Given the description of an element on the screen output the (x, y) to click on. 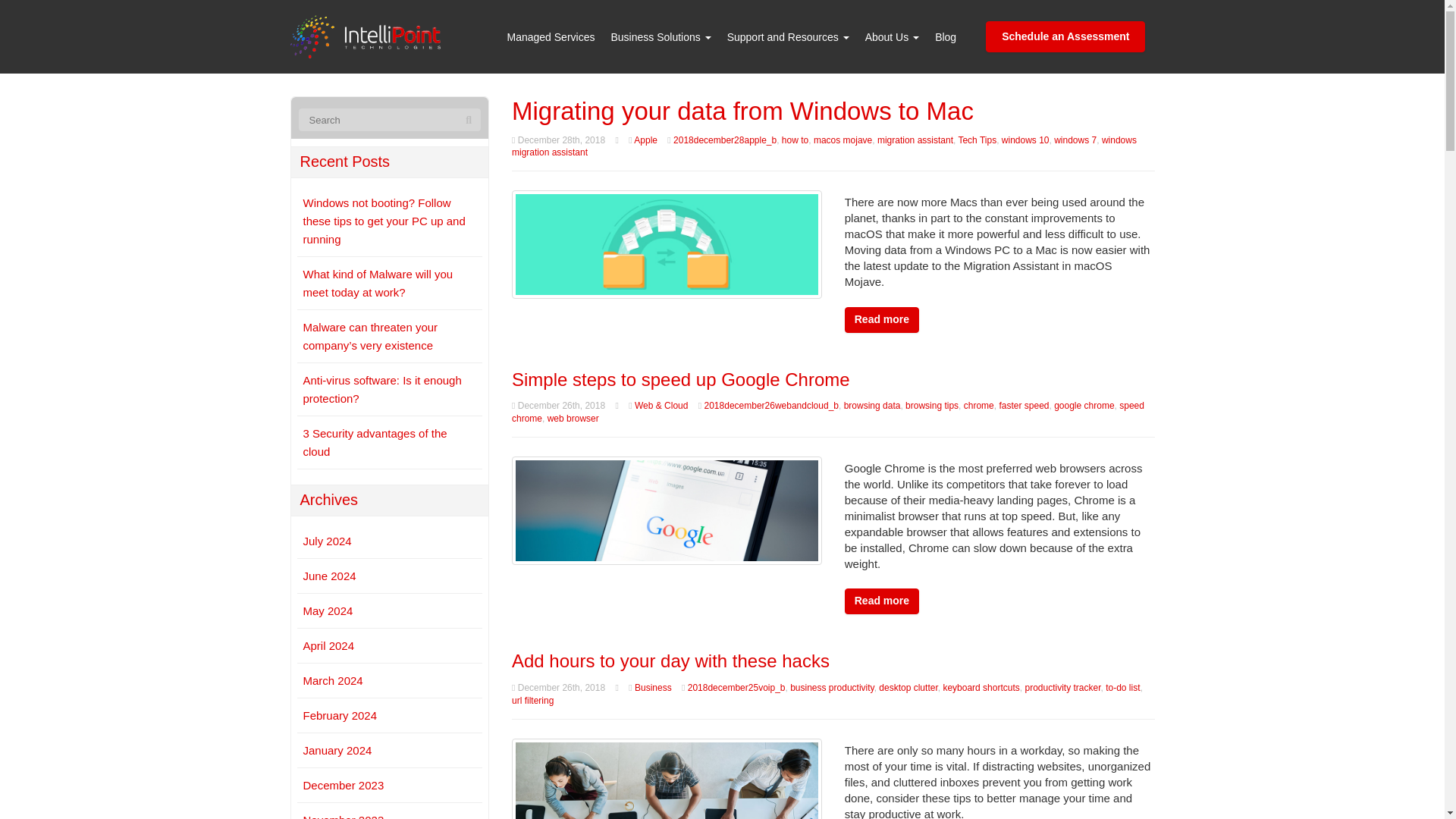
Business Solutions (660, 36)
Simple steps to speed up Google Chrome (667, 508)
Migrating your data from Windows to Mac (743, 111)
Support and Resources (788, 36)
Add hours to your day with these hacks (667, 790)
Managed Services (551, 36)
Simple steps to speed up Google Chrome (681, 379)
Add hours to your day with these hacks (670, 660)
Migrating your data from Windows to Mac (667, 243)
